Given the description of an element on the screen output the (x, y) to click on. 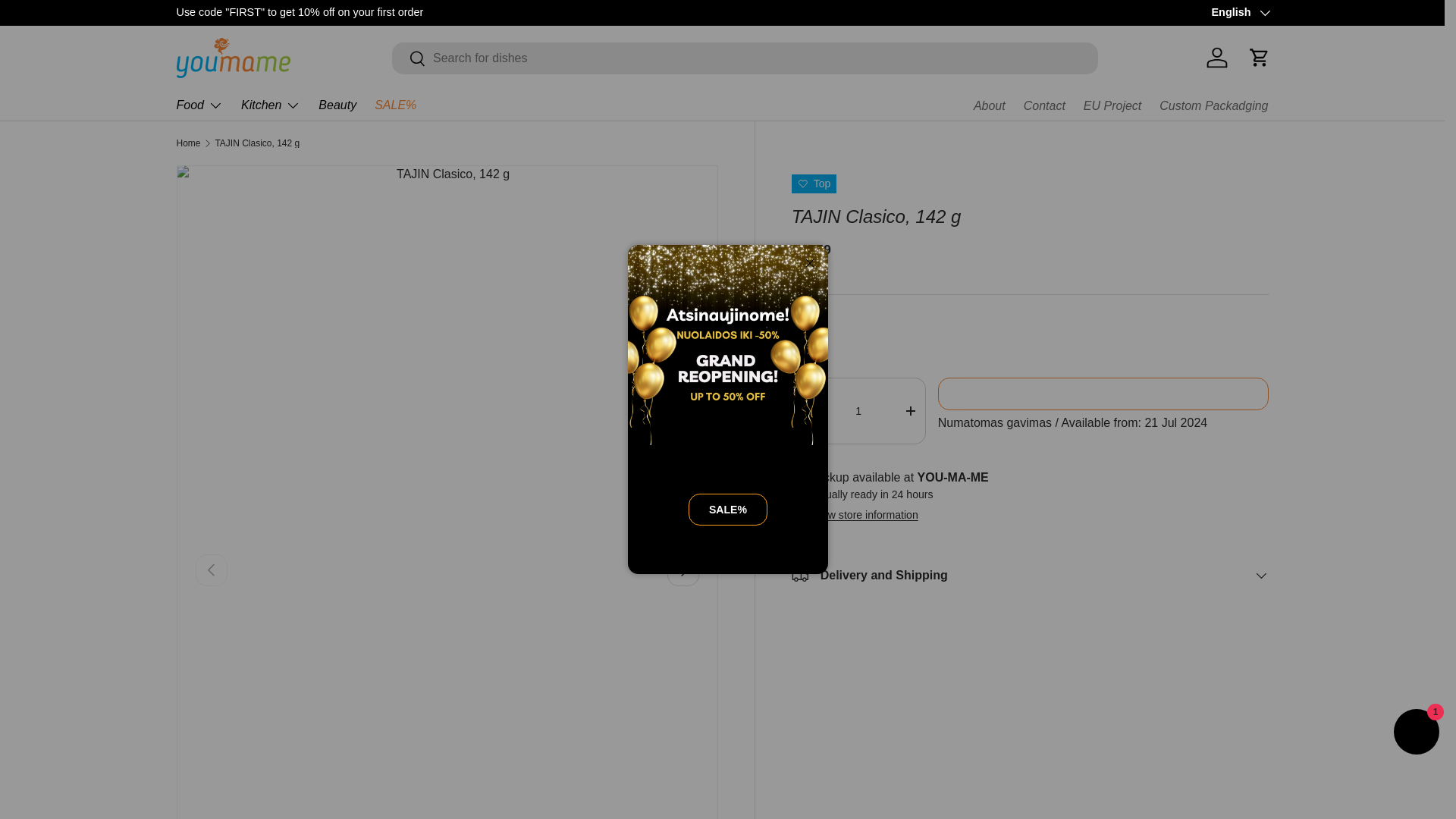
Search (408, 58)
English (1239, 12)
Log in (1216, 57)
Shopify online store chat (1416, 733)
1 (858, 410)
Cart (1258, 57)
Food (199, 105)
Skip to content (68, 21)
